Given the description of an element on the screen output the (x, y) to click on. 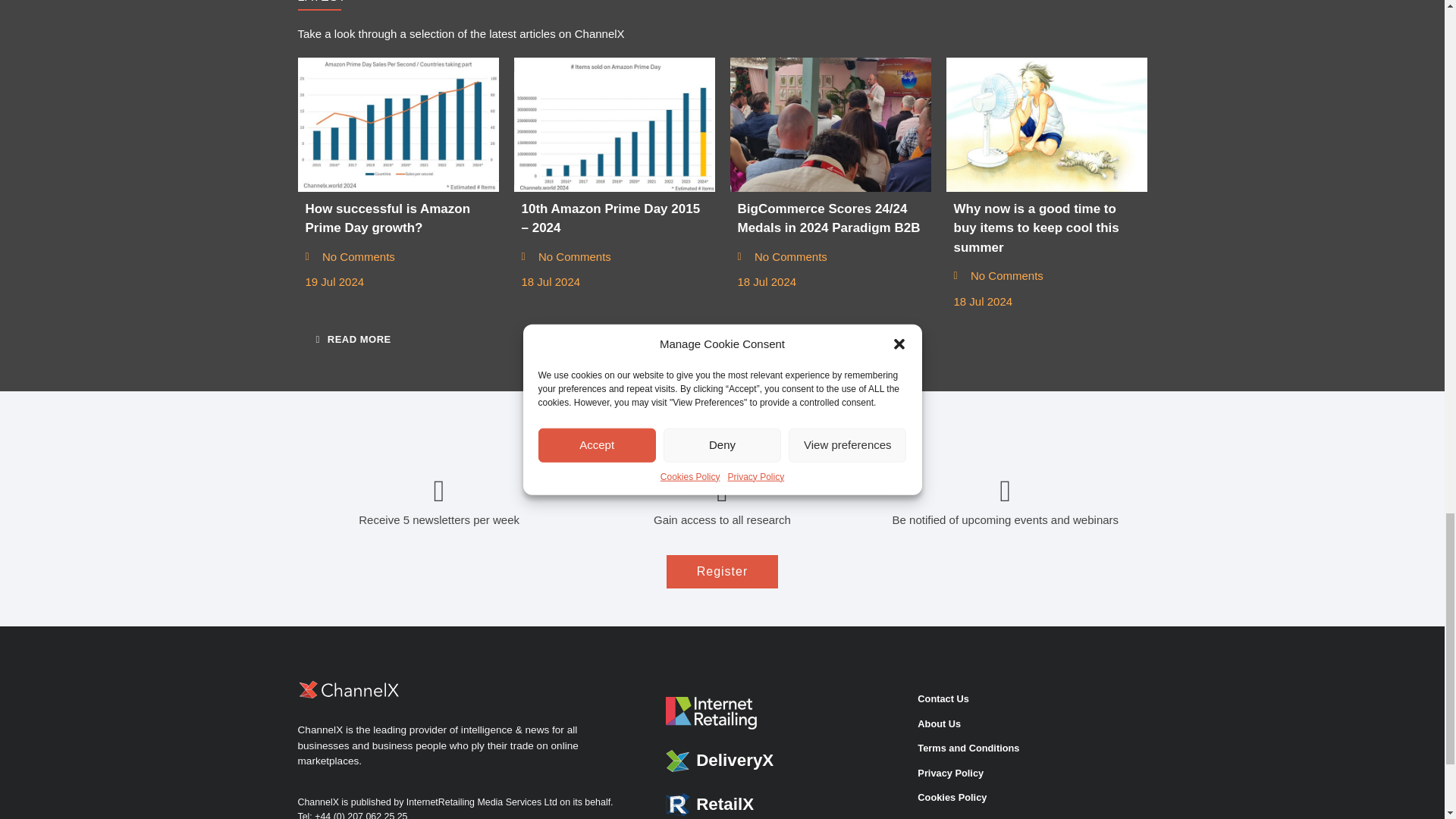
BigCommerce Scores 24 out of 24 Medals in 2024 Paradigm B2B (829, 124)
How successful is Amazon Prime Day growth (397, 124)
Why now is a good time to buy items to keep cool this summer (1046, 124)
